Given the description of an element on the screen output the (x, y) to click on. 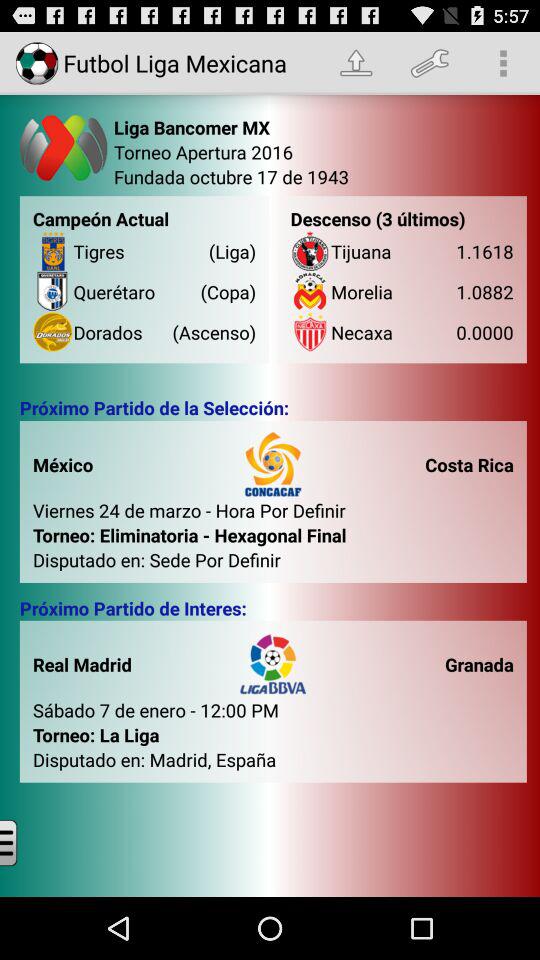
click on image left to granada (272, 663)
icon left to the text queretaro (52, 291)
click on the more button at top right (503, 63)
